Given the description of an element on the screen output the (x, y) to click on. 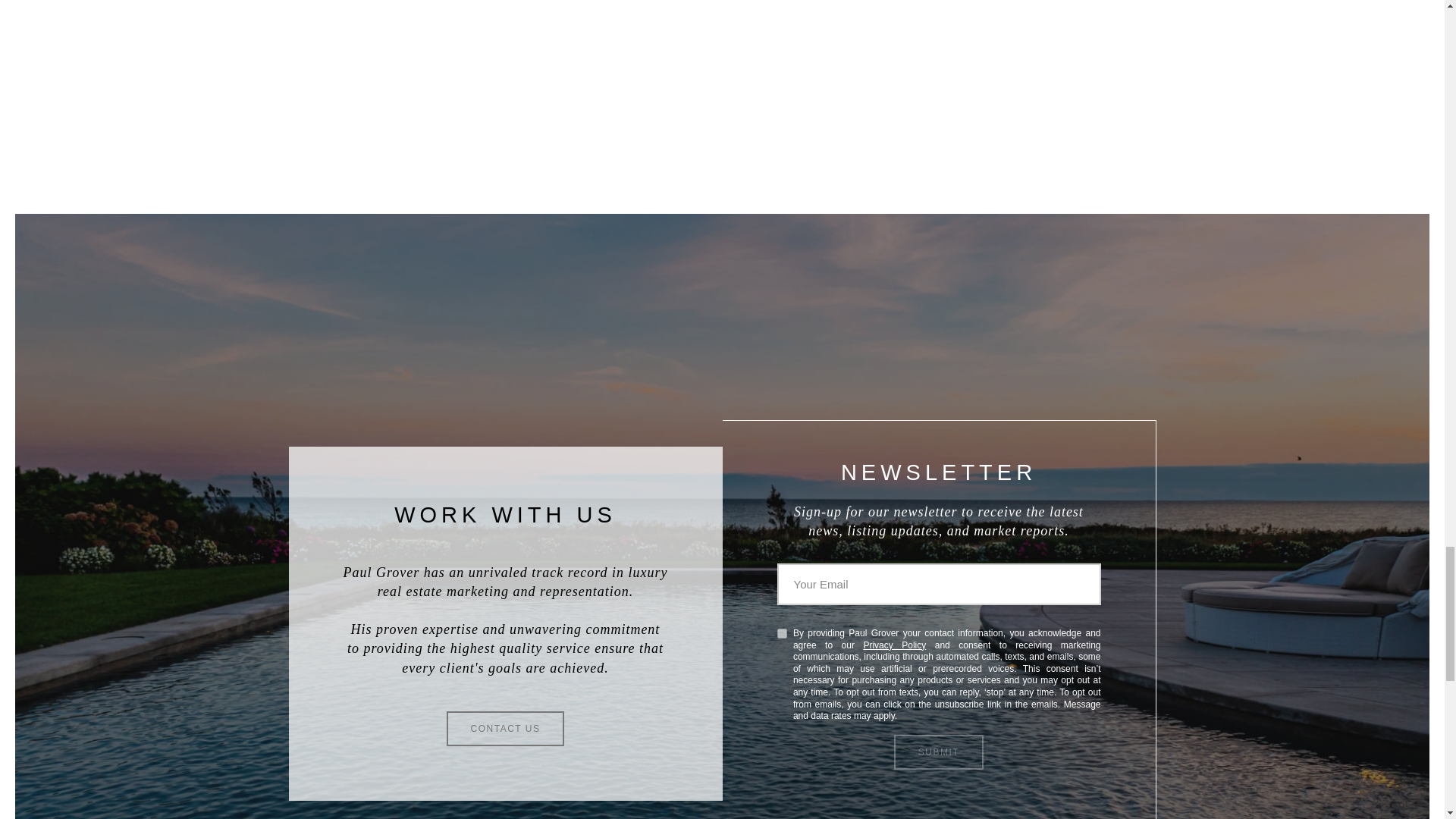
on (781, 633)
